Given the description of an element on the screen output the (x, y) to click on. 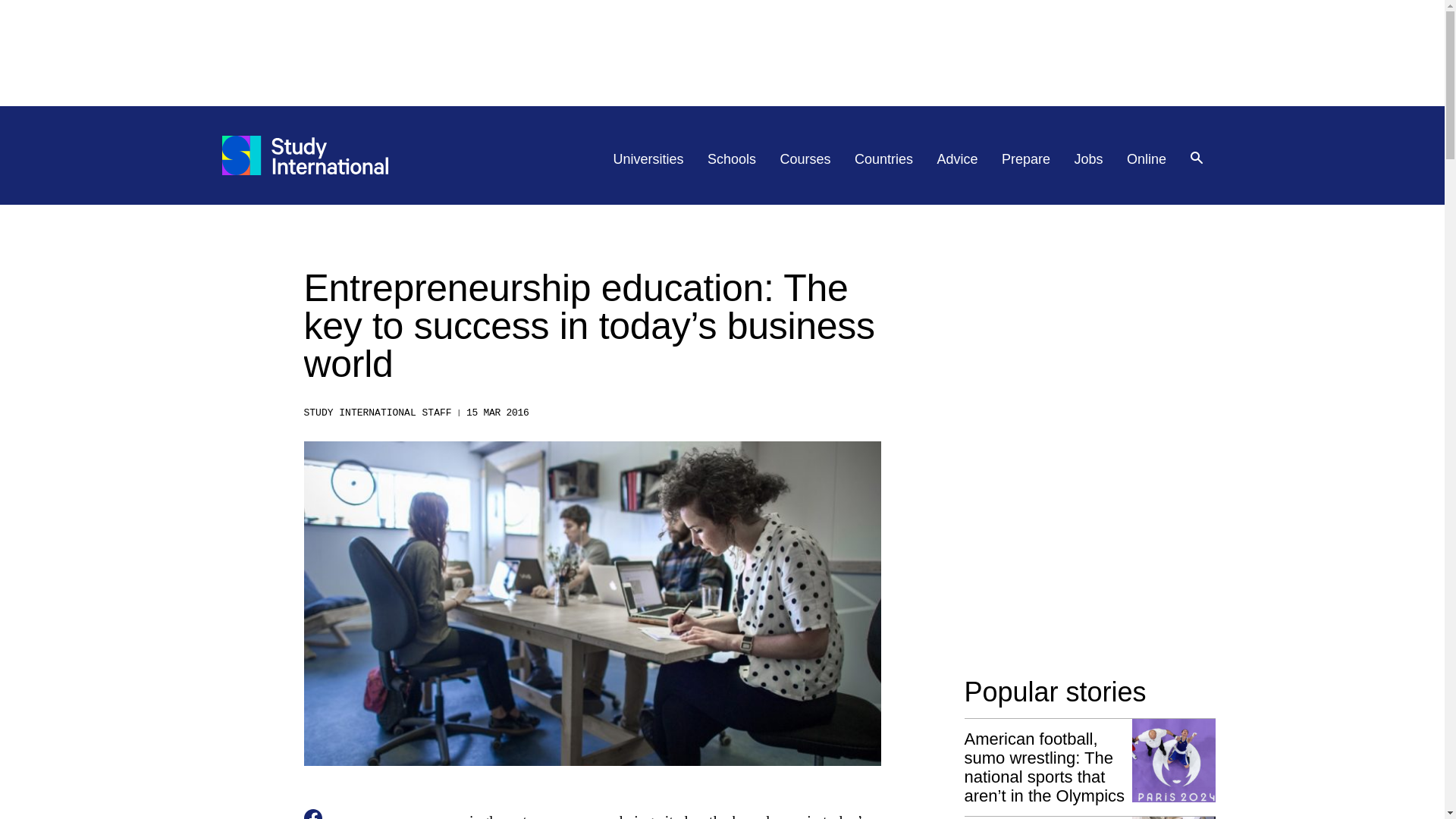
Schools (731, 159)
Jobs (1088, 159)
Prepare (1025, 159)
Online (1146, 159)
Courses (805, 159)
Advice (957, 159)
Countries (883, 159)
STUDY INTERNATIONAL STAFF (376, 412)
Universities (648, 159)
